Given the description of an element on the screen output the (x, y) to click on. 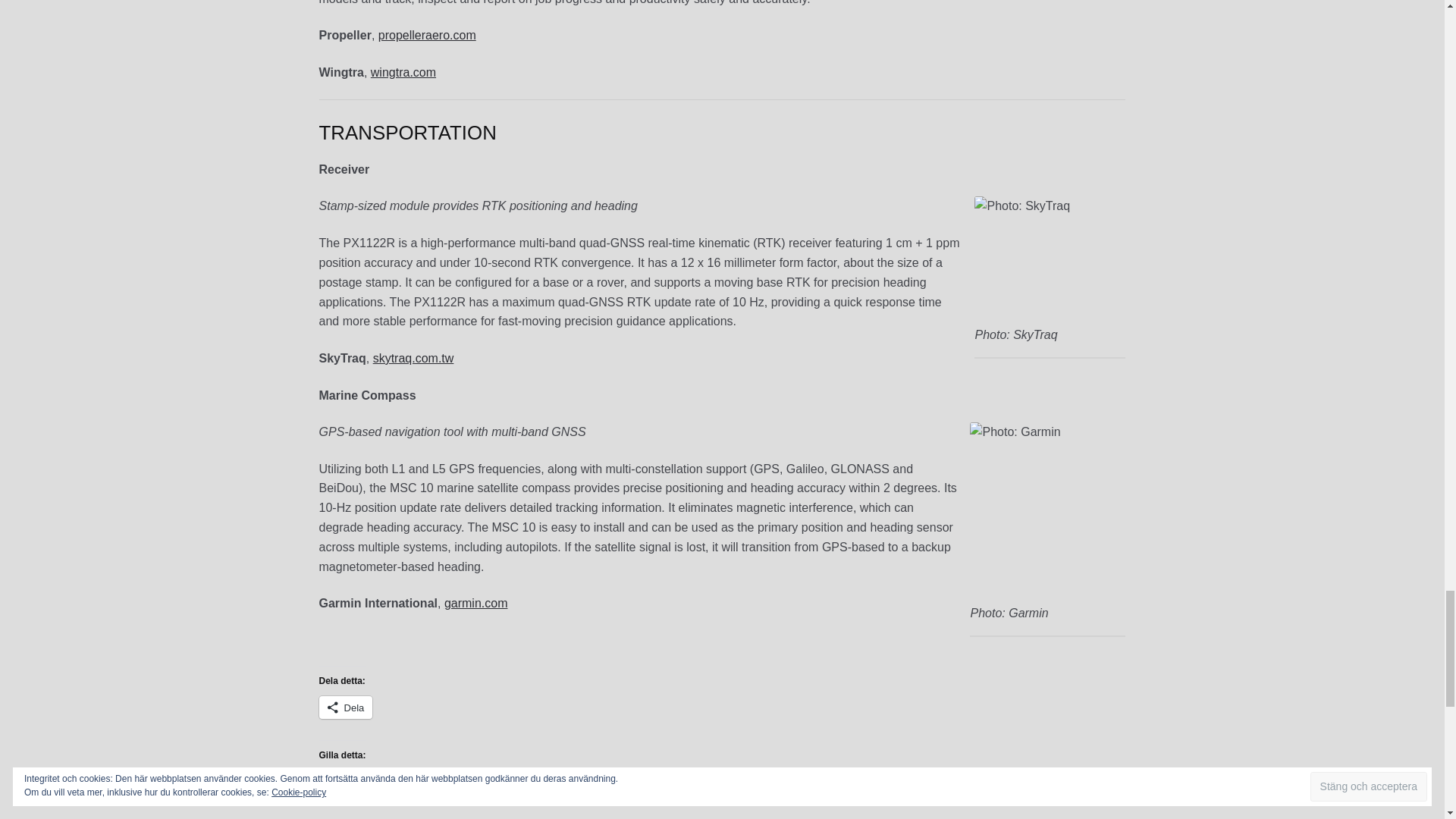
wingtra.com (403, 72)
skytraq.com.tw (413, 358)
propelleraero.com (427, 34)
garmin.com (476, 603)
Dela (345, 707)
